Given the description of an element on the screen output the (x, y) to click on. 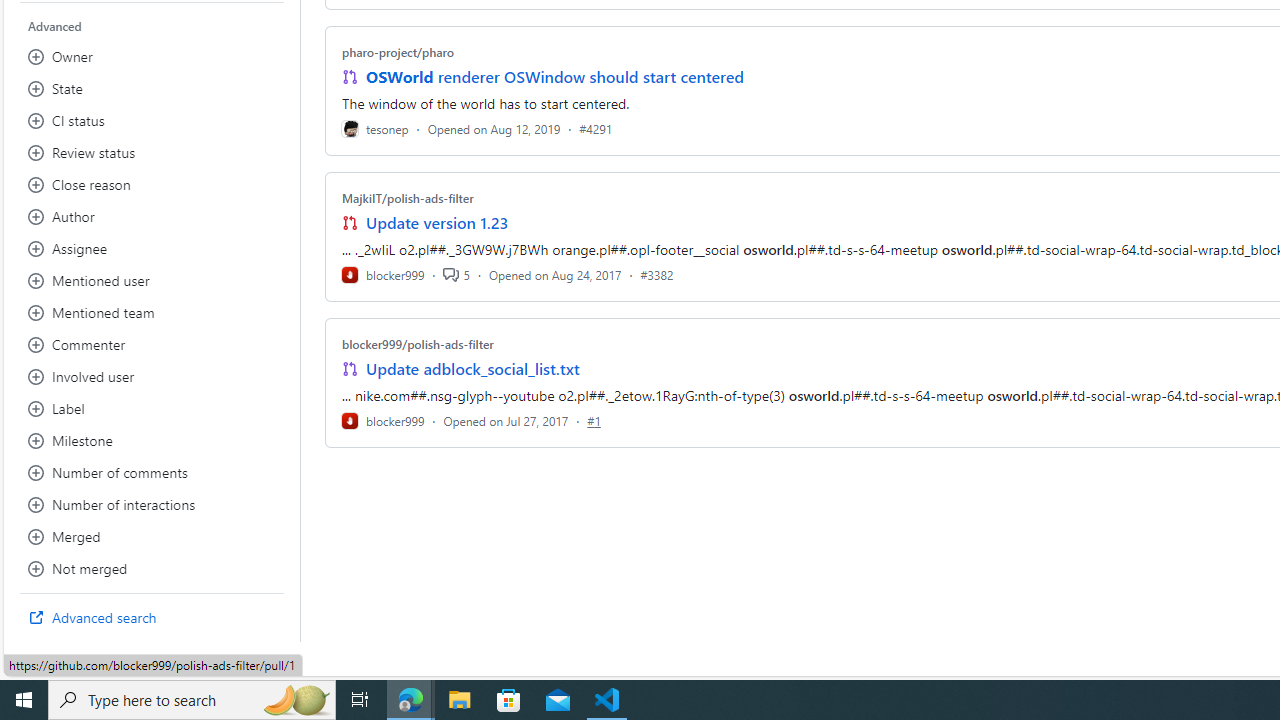
#1 (594, 420)
blocker999 (382, 420)
#3382 (657, 273)
#3382 (657, 273)
